Given the description of an element on the screen output the (x, y) to click on. 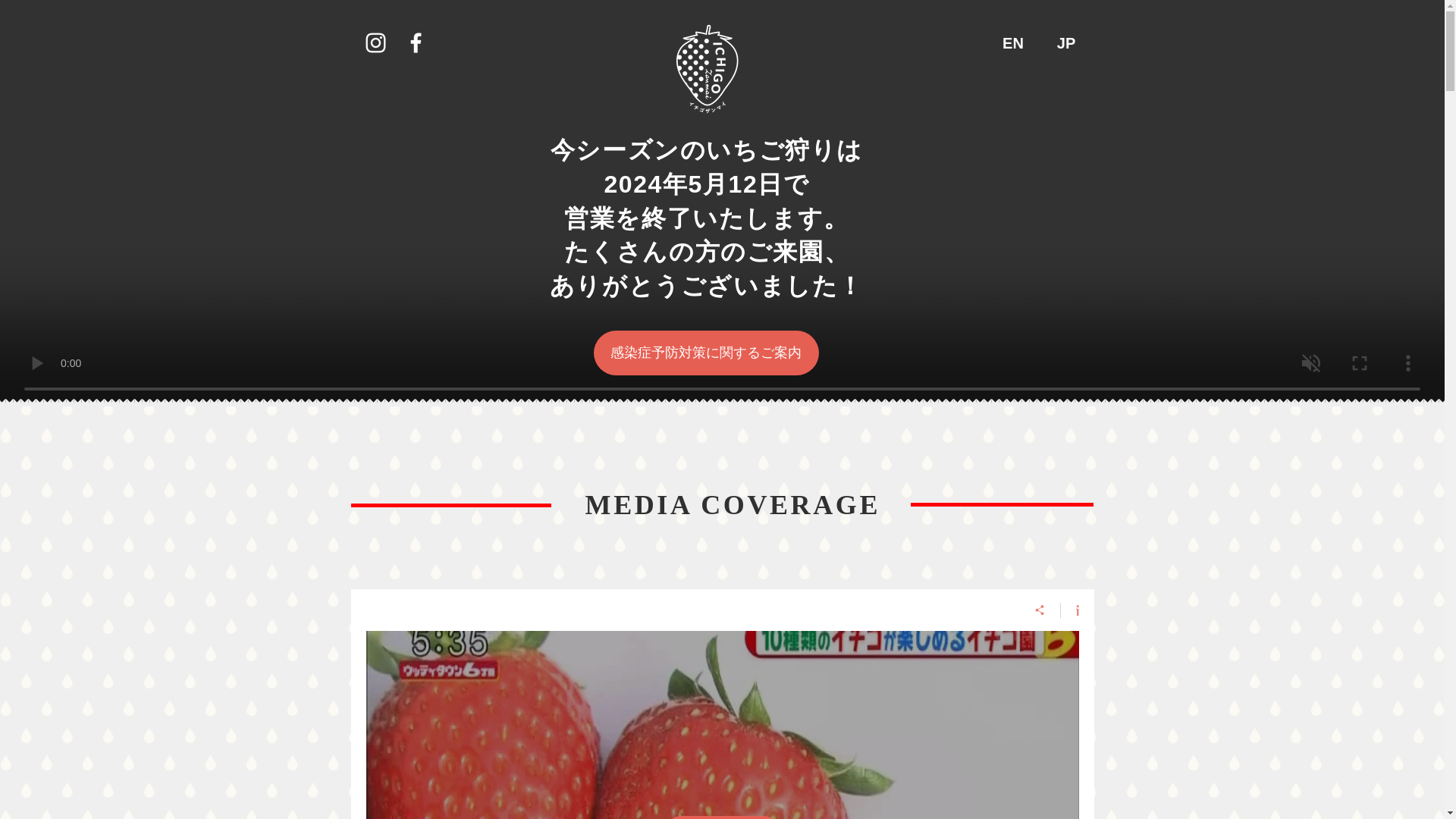
EN (1012, 42)
Play Video (721, 817)
JP (1065, 42)
